Given the description of an element on the screen output the (x, y) to click on. 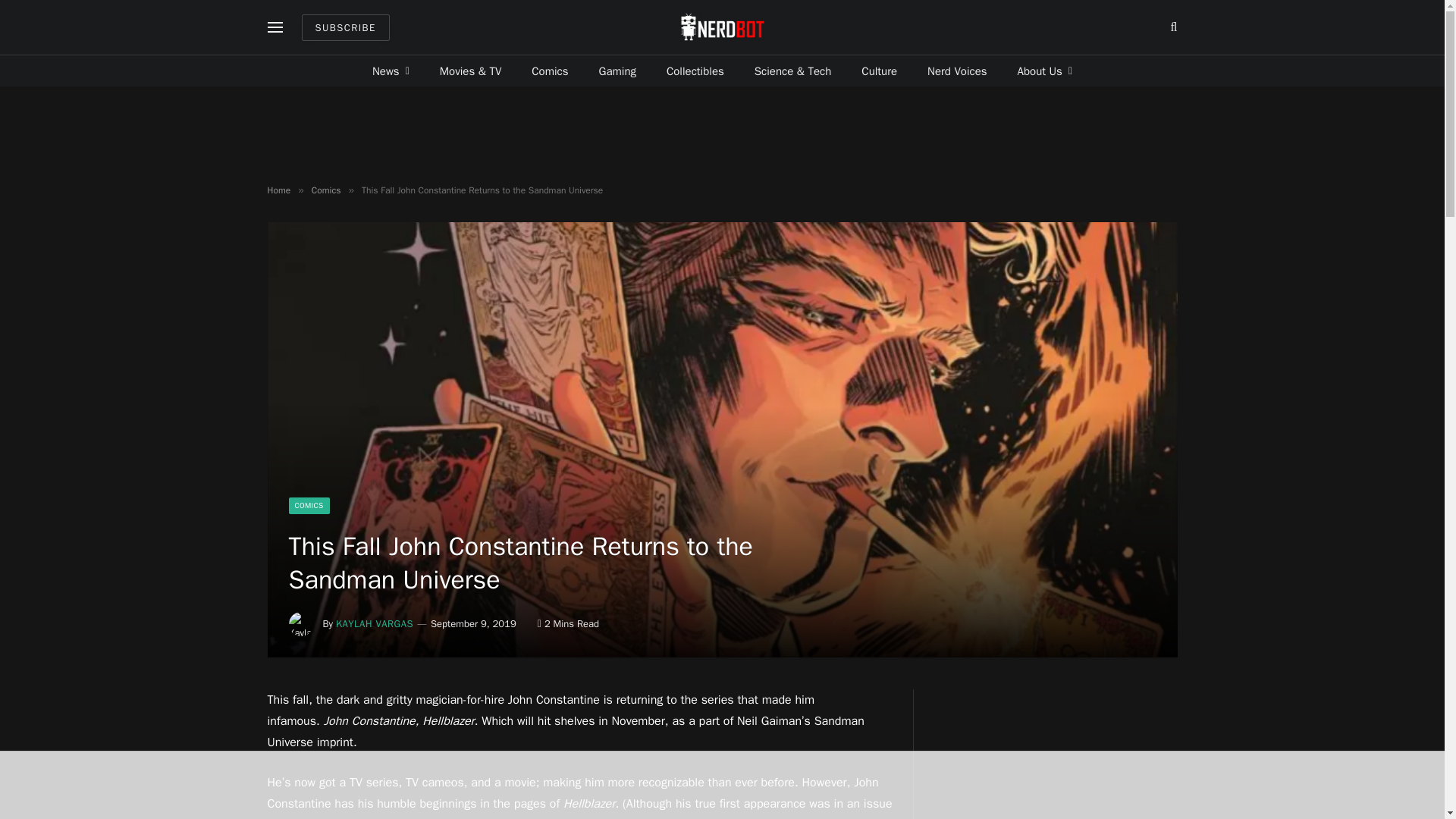
NERDBOT (722, 26)
Nerd Voices (957, 70)
Culture (878, 70)
Comics (549, 70)
Home (277, 190)
News (390, 70)
COMICS (308, 505)
About Us (1045, 70)
Collectibles (694, 70)
